Given the description of an element on the screen output the (x, y) to click on. 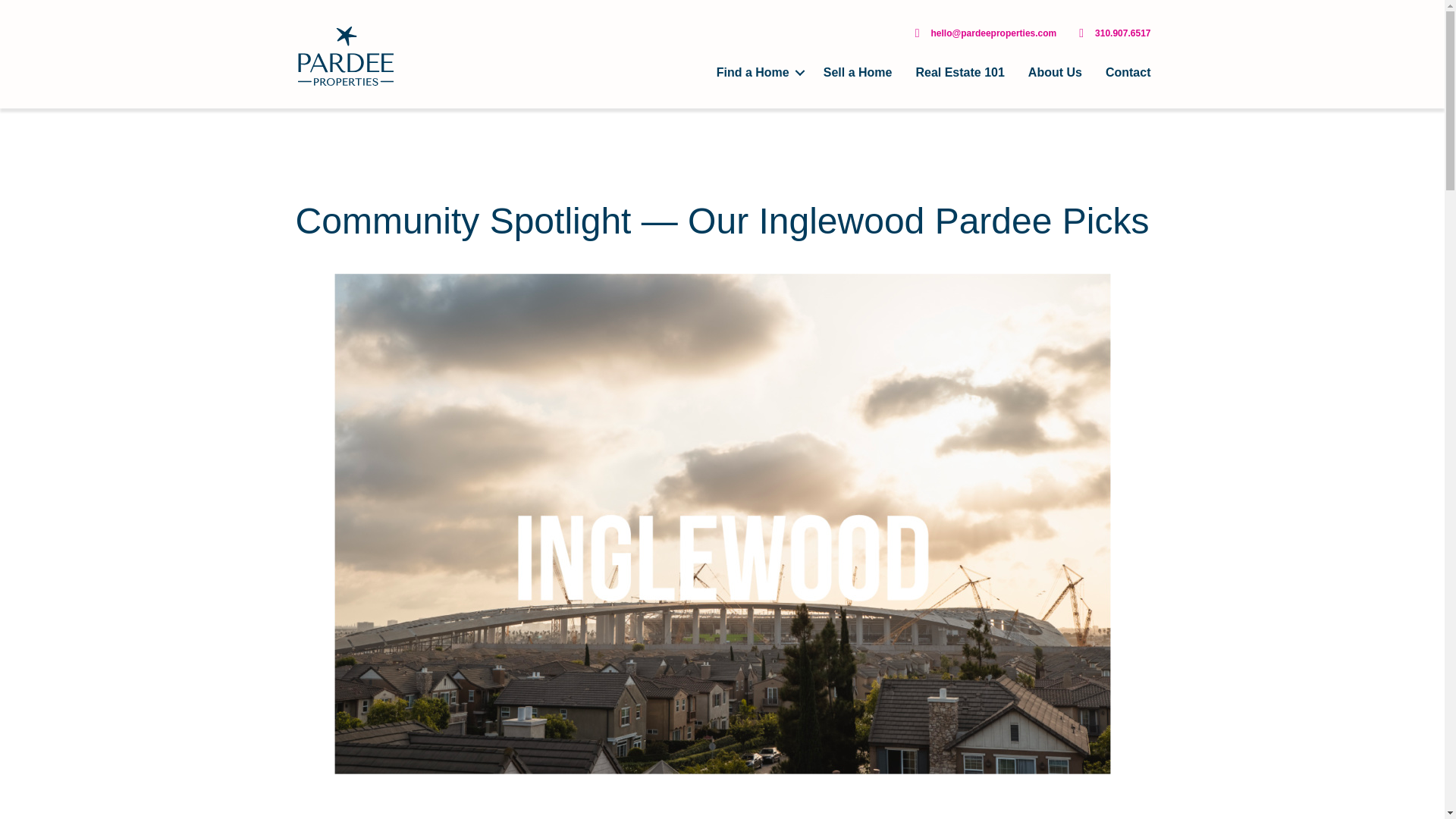
Real Estate 101 (959, 72)
Pardee Properties (345, 55)
Find a Home (757, 72)
Contact (1127, 72)
Sell a Home (858, 72)
310.907.6517 (1122, 33)
About Us (1054, 72)
